Given the description of an element on the screen output the (x, y) to click on. 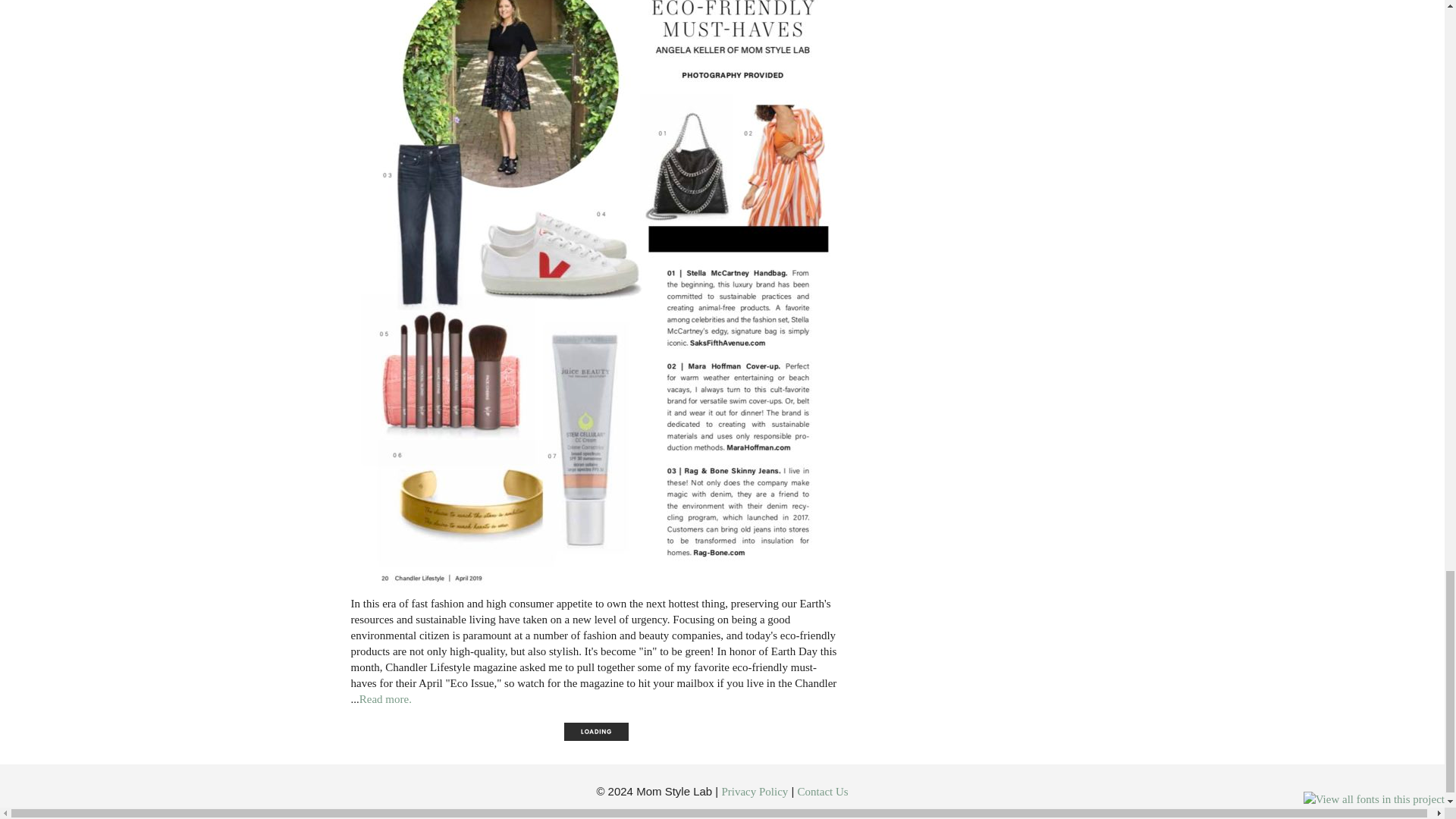
Read more. (385, 698)
